Given the description of an element on the screen output the (x, y) to click on. 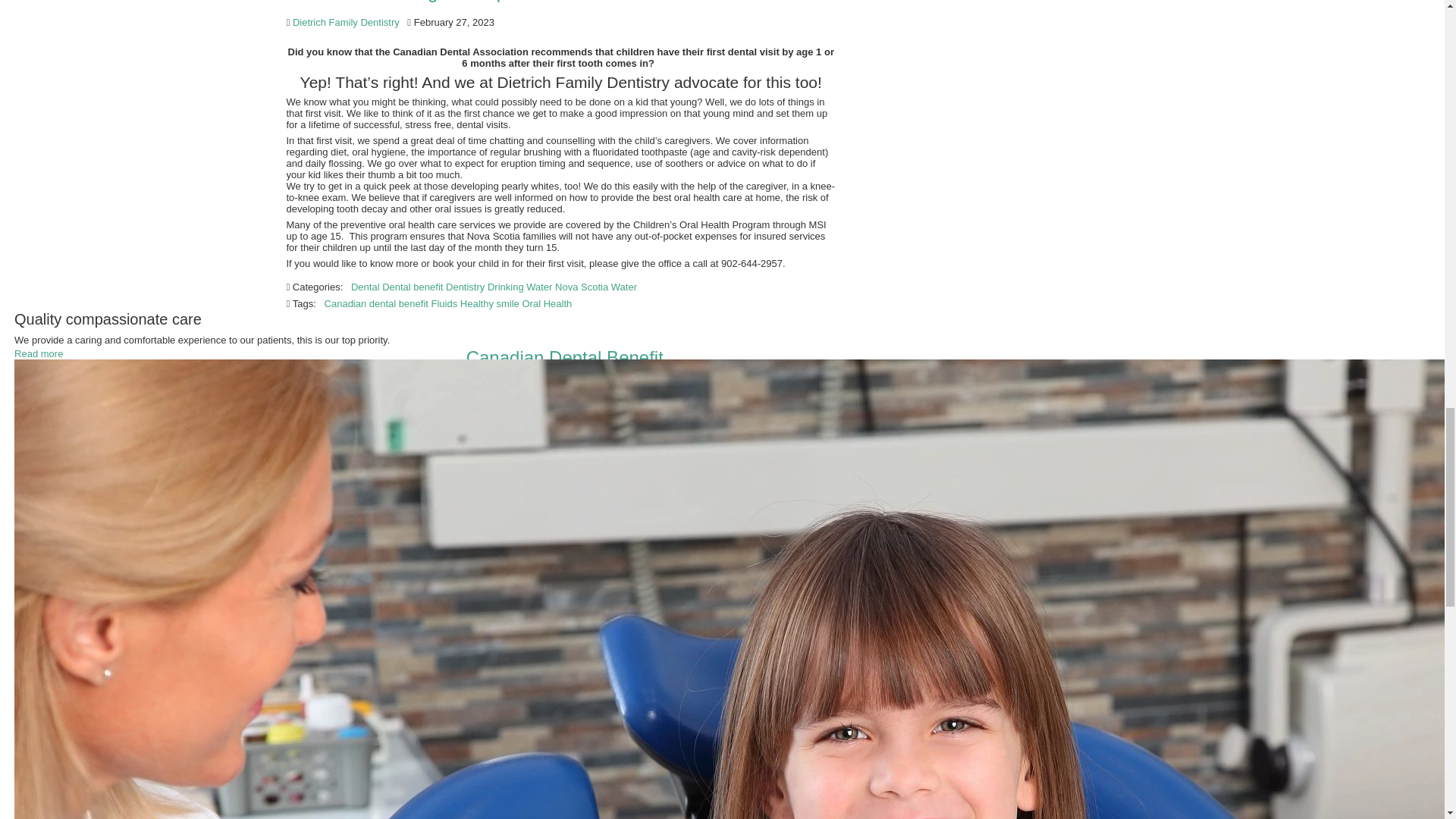
Posts by Dietrich Family Dentistry (345, 21)
Posts by Dietrich Family Dentistry (345, 387)
Canadian Dental Benefit (564, 357)
Read more (38, 353)
Read more (38, 353)
